Given the description of an element on the screen output the (x, y) to click on. 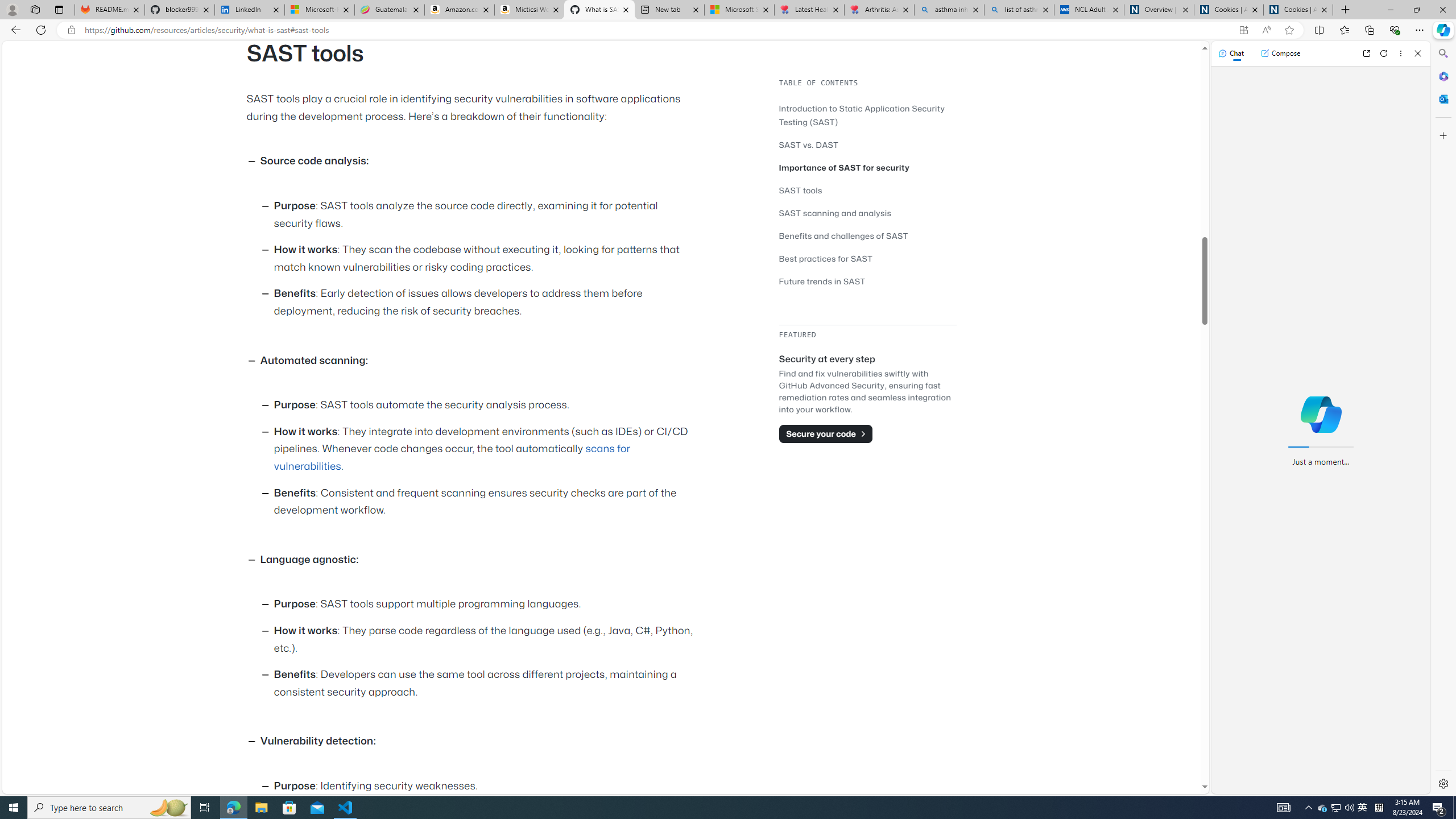
scans for vulnerabilities (451, 457)
Microsoft-Report a Concern to Bing (319, 9)
SAST scanning and analysis (867, 212)
Purpose: Identifying security weaknesses. (485, 786)
SAST scanning and analysis (834, 212)
Benefits and challenges of SAST (843, 235)
Importance of SAST for security (867, 167)
Open link in new tab (1366, 53)
Cookies | About | NICE (1297, 9)
Future trends in SAST (867, 281)
